Given the description of an element on the screen output the (x, y) to click on. 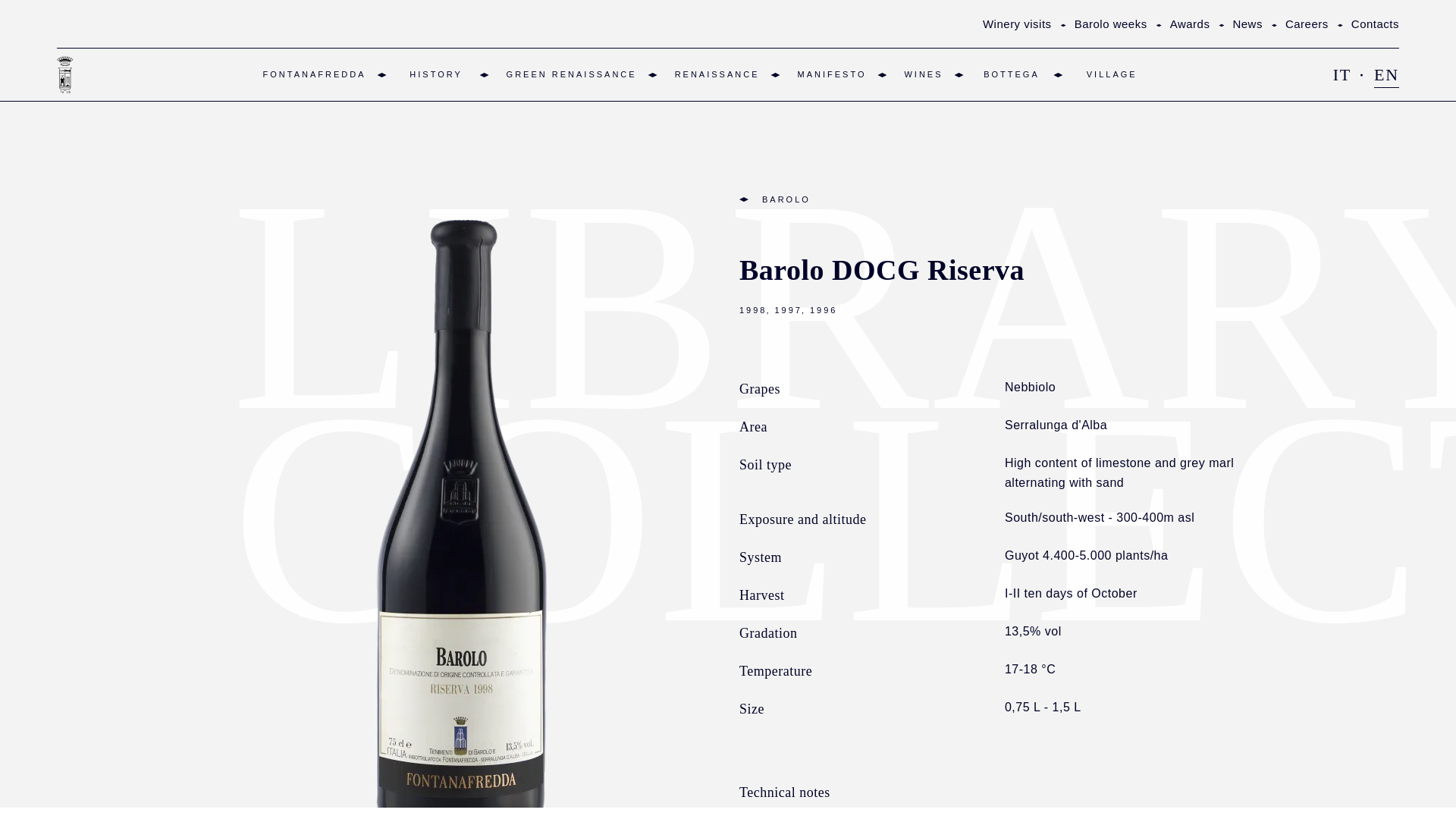
EN (1386, 74)
WINES (923, 74)
Barolo weeks (1110, 23)
FONTANAFREDDA (314, 74)
MANIFESTO (831, 74)
BOTTEGA (1011, 74)
Awards (1189, 23)
HISTORY (436, 74)
Careers (1306, 23)
News (1246, 23)
VILLAGE (1111, 74)
Contacts (1375, 23)
RENAISSANCE (717, 74)
IT (1342, 74)
GREEN RENAISSANCE (571, 74)
